Given the description of an element on the screen output the (x, y) to click on. 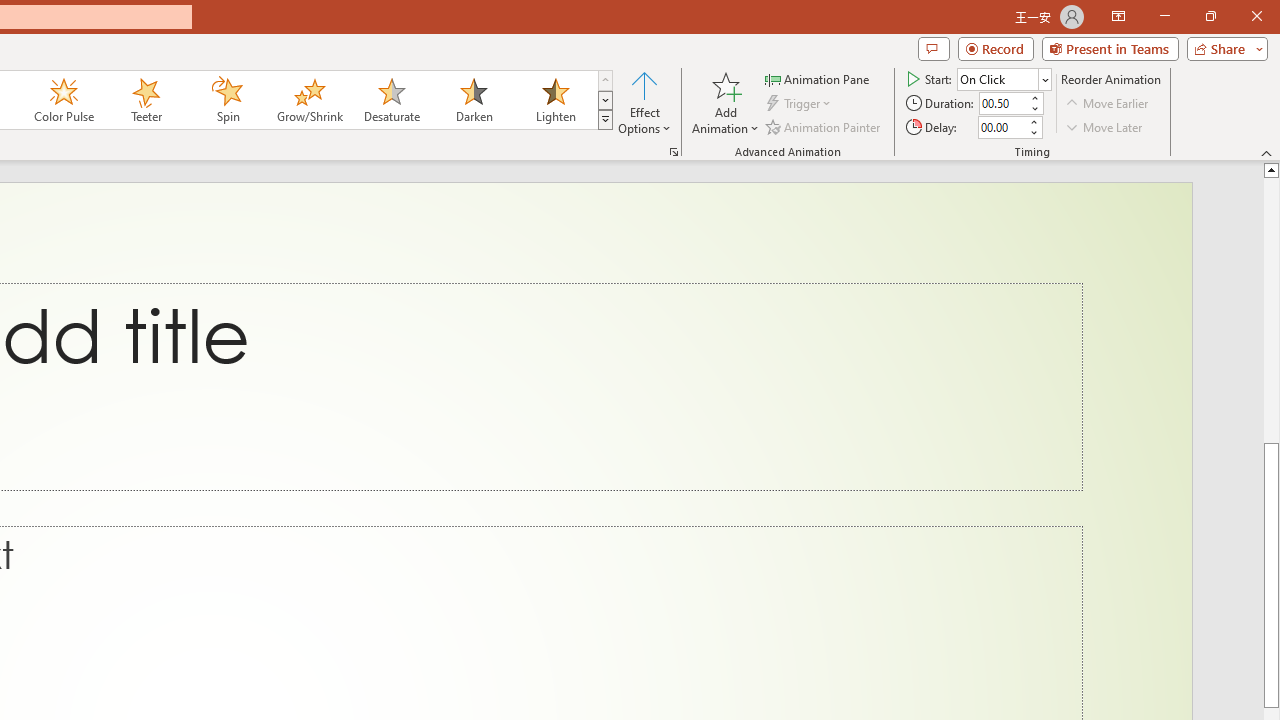
Add Animation (725, 102)
Trigger (799, 103)
Darken (473, 100)
Animation Styles (605, 120)
Move Earlier (1107, 103)
Animation Pane (818, 78)
Animation Duration (1003, 103)
Teeter (145, 100)
Move Later (1105, 126)
